Given the description of an element on the screen output the (x, y) to click on. 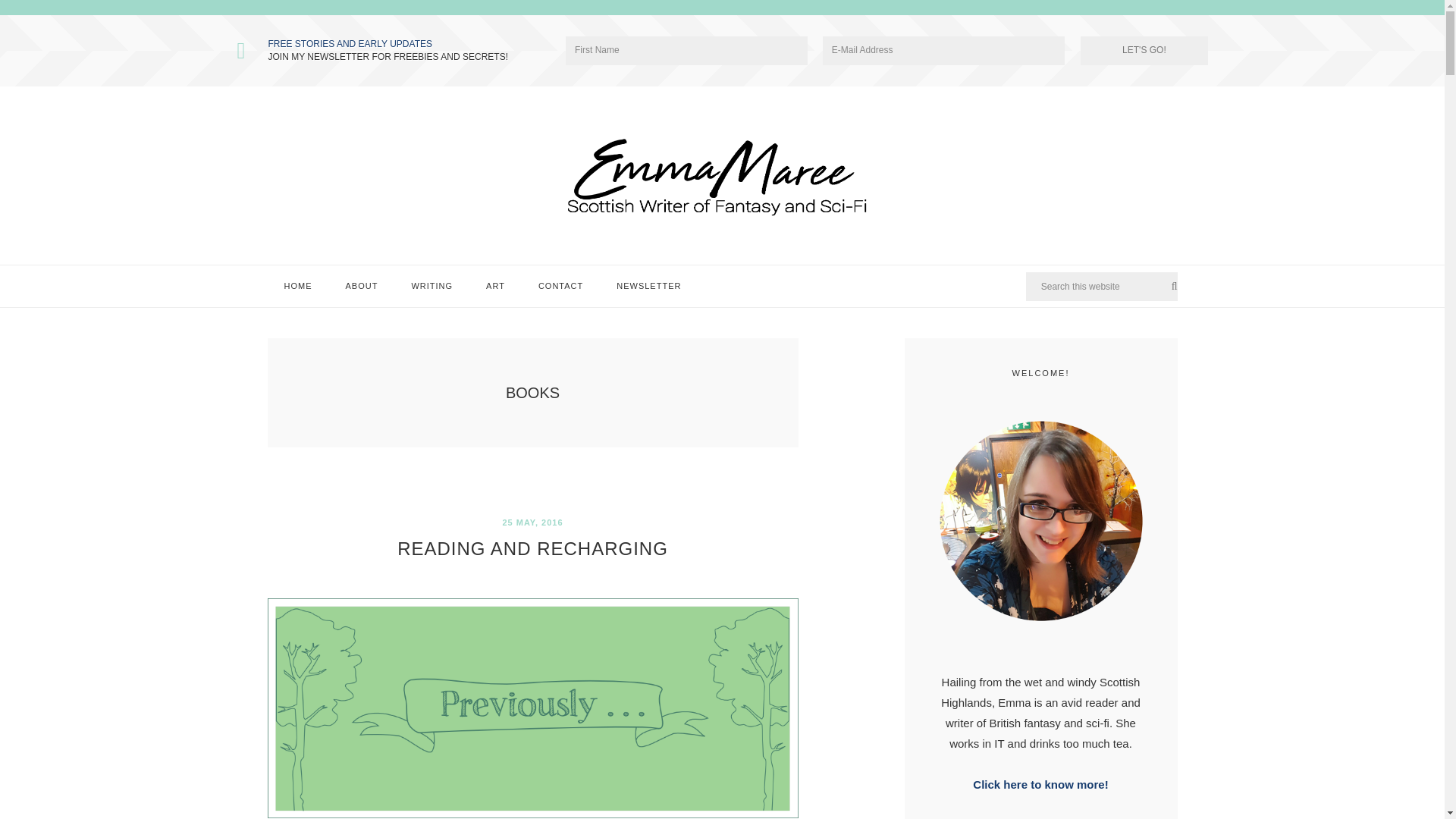
EmmaMaree.com (721, 174)
ABOUT (361, 286)
Let's Go! (1143, 50)
CONTACT (560, 286)
NEWSLETTER (648, 286)
READING AND RECHARGING (532, 548)
WRITING (431, 286)
HOME (297, 286)
Let's Go! (1143, 50)
ART (494, 286)
